Given the description of an element on the screen output the (x, y) to click on. 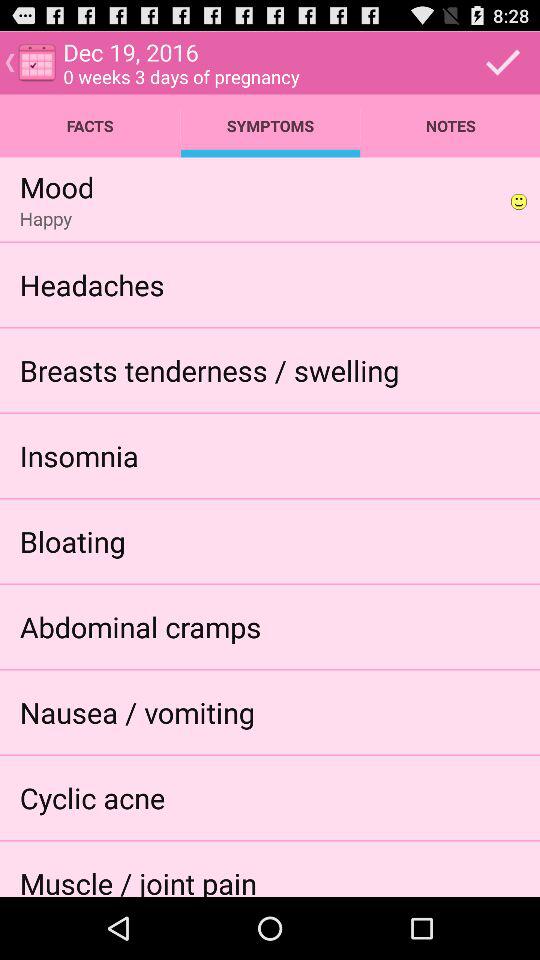
confirm details and close page (503, 62)
